Given the description of an element on the screen output the (x, y) to click on. 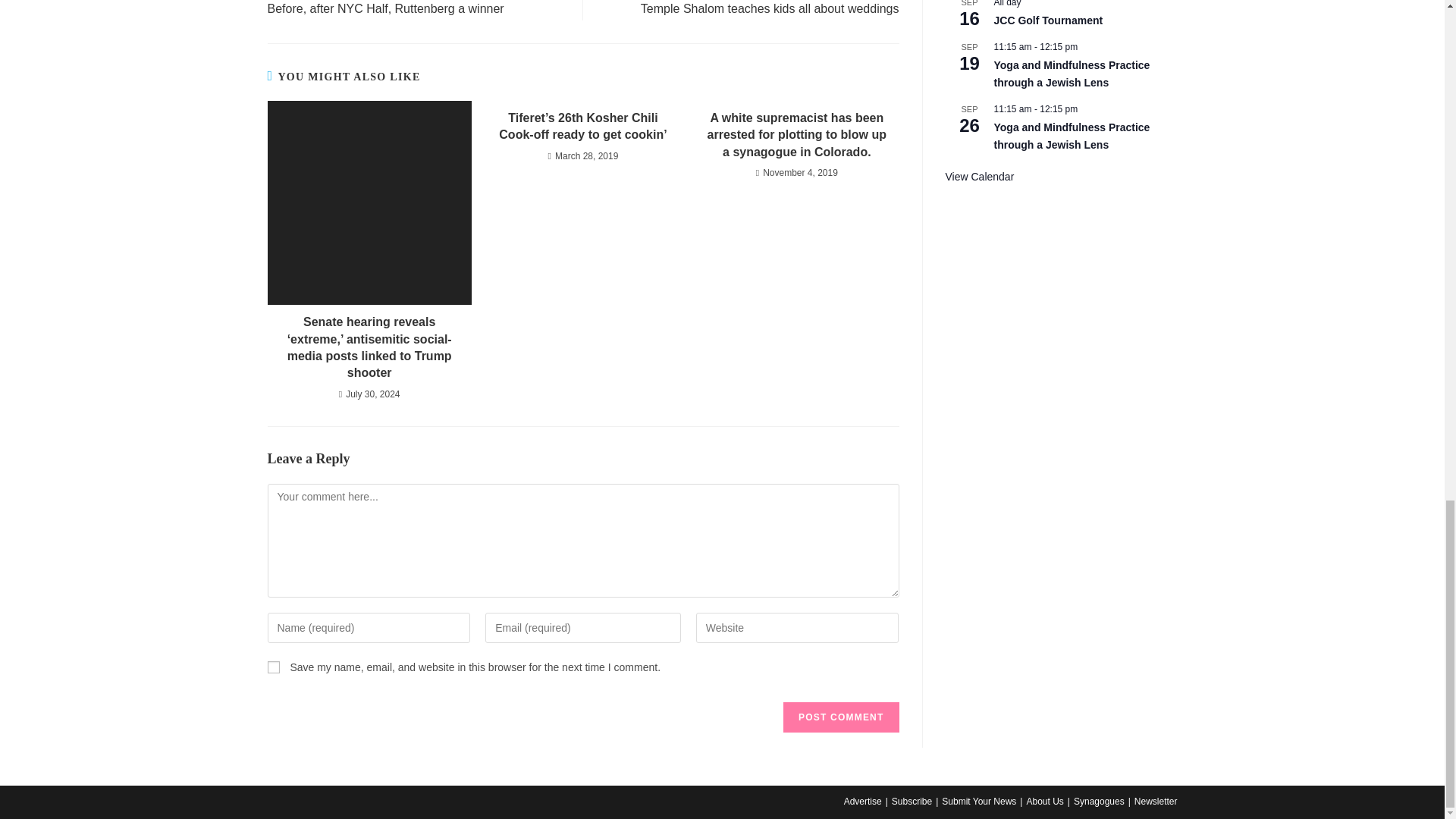
View more events. (978, 176)
JCC Golf Tournament (1047, 20)
Yoga and Mindfulness Practice through a Jewish Lens (1071, 73)
yes (272, 666)
Yoga and Mindfulness Practice through a Jewish Lens (1071, 136)
Post Comment (840, 716)
